Given the description of an element on the screen output the (x, y) to click on. 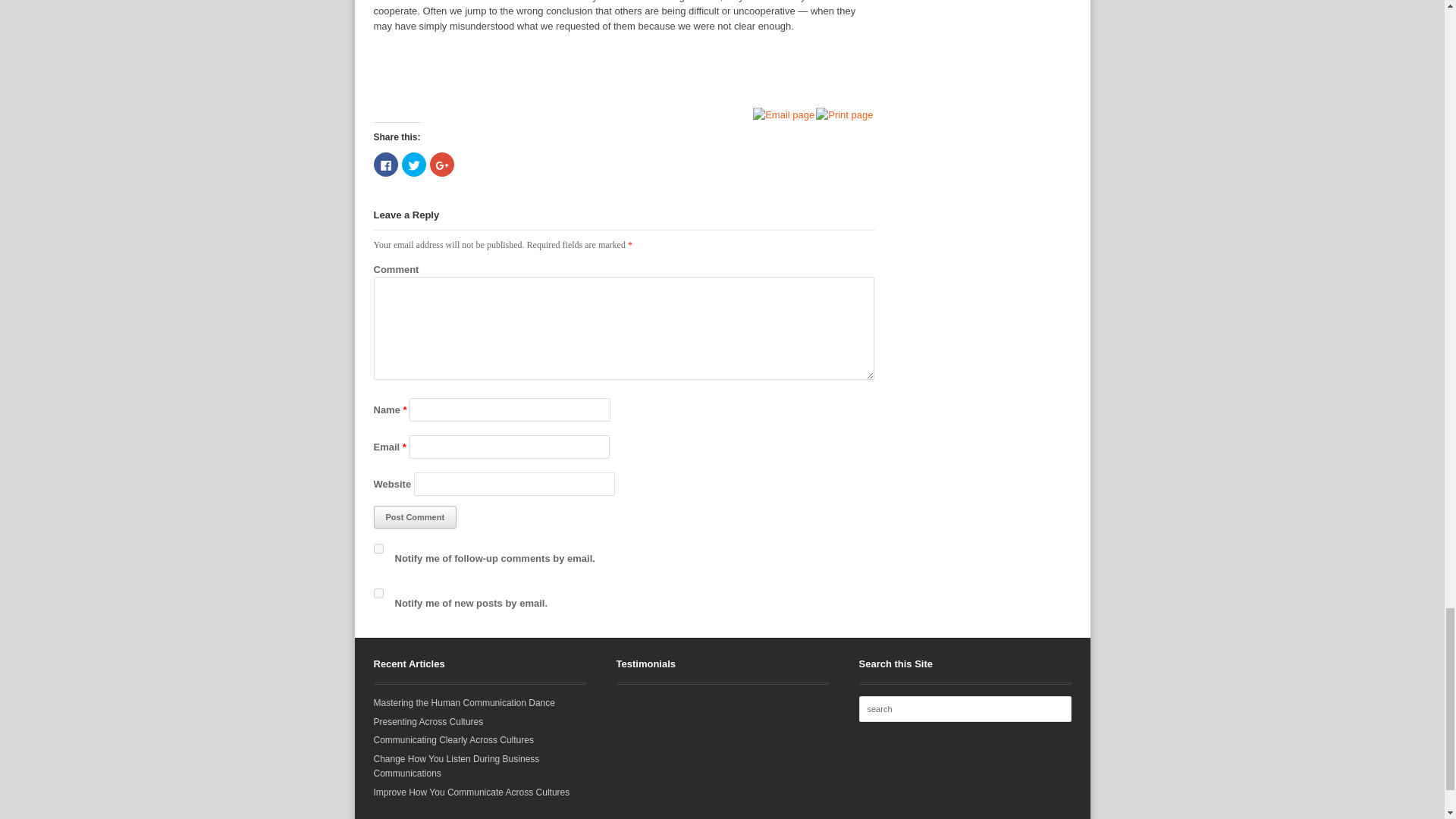
Communicating Clearly Across Cultures (452, 739)
Click to share on Twitter (413, 164)
subscribe (377, 548)
Change How You Listen During Business Communications (455, 766)
subscribe (377, 593)
Post Comment (414, 517)
Post Comment (414, 517)
search (964, 708)
Email page (783, 114)
Print page (844, 114)
Presenting Across Cultures (427, 721)
Click to share on Facebook (384, 164)
Mastering the Human Communication Dance (463, 702)
Improve How You Communicate Across Cultures (470, 792)
